Given the description of an element on the screen output the (x, y) to click on. 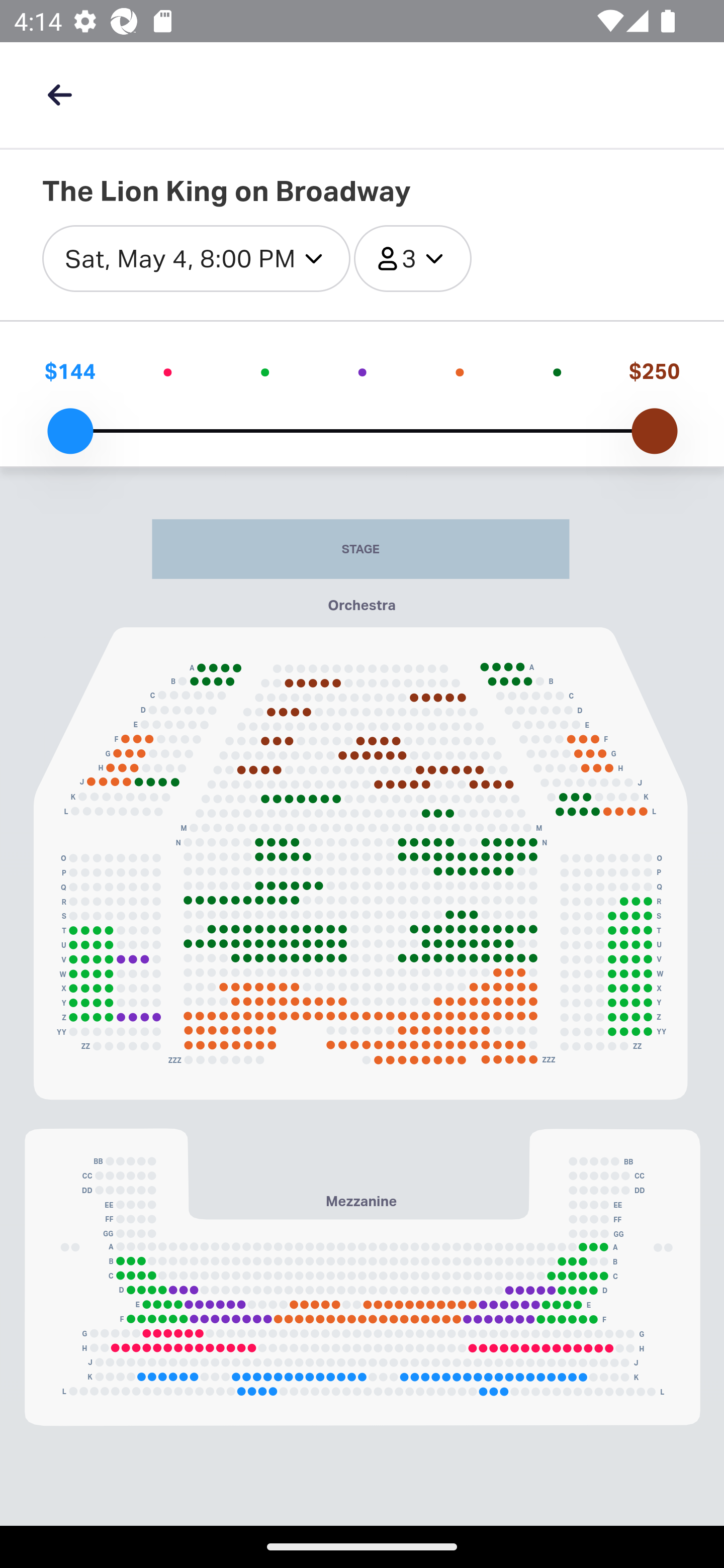
back button (59, 94)
Sat, May 4, 8:00 PM (196, 259)
3 (412, 259)
$144 (69, 370)
• (167, 370)
• (264, 370)
• (362, 370)
• (459, 370)
• (556, 370)
$250 (653, 370)
0.0 (69, 431)
100.0 (654, 431)
